Given the description of an element on the screen output the (x, y) to click on. 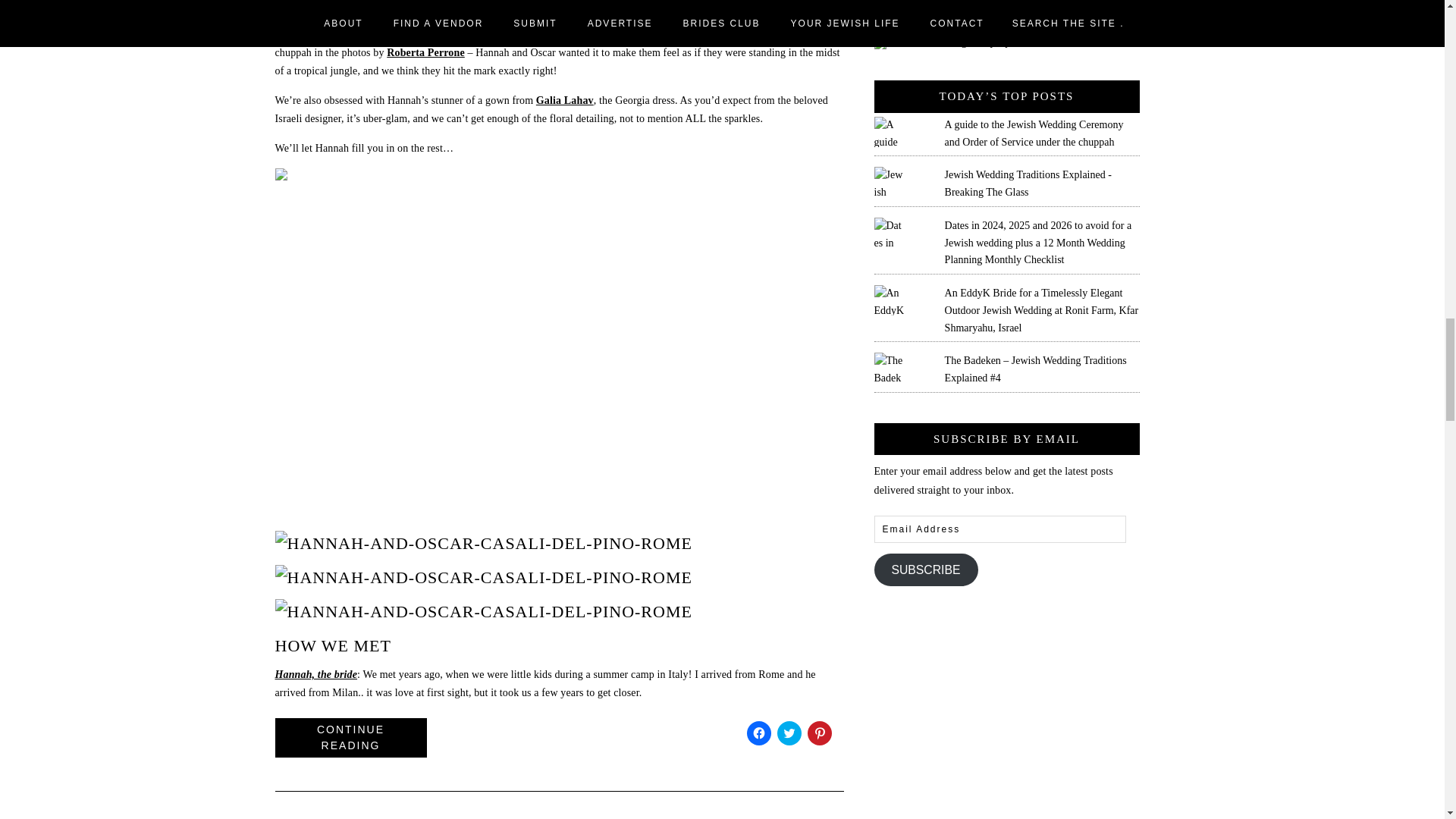
Click to share on Pinterest (818, 733)
Click to share on Twitter (788, 733)
Click to share on Facebook (757, 733)
